Given the description of an element on the screen output the (x, y) to click on. 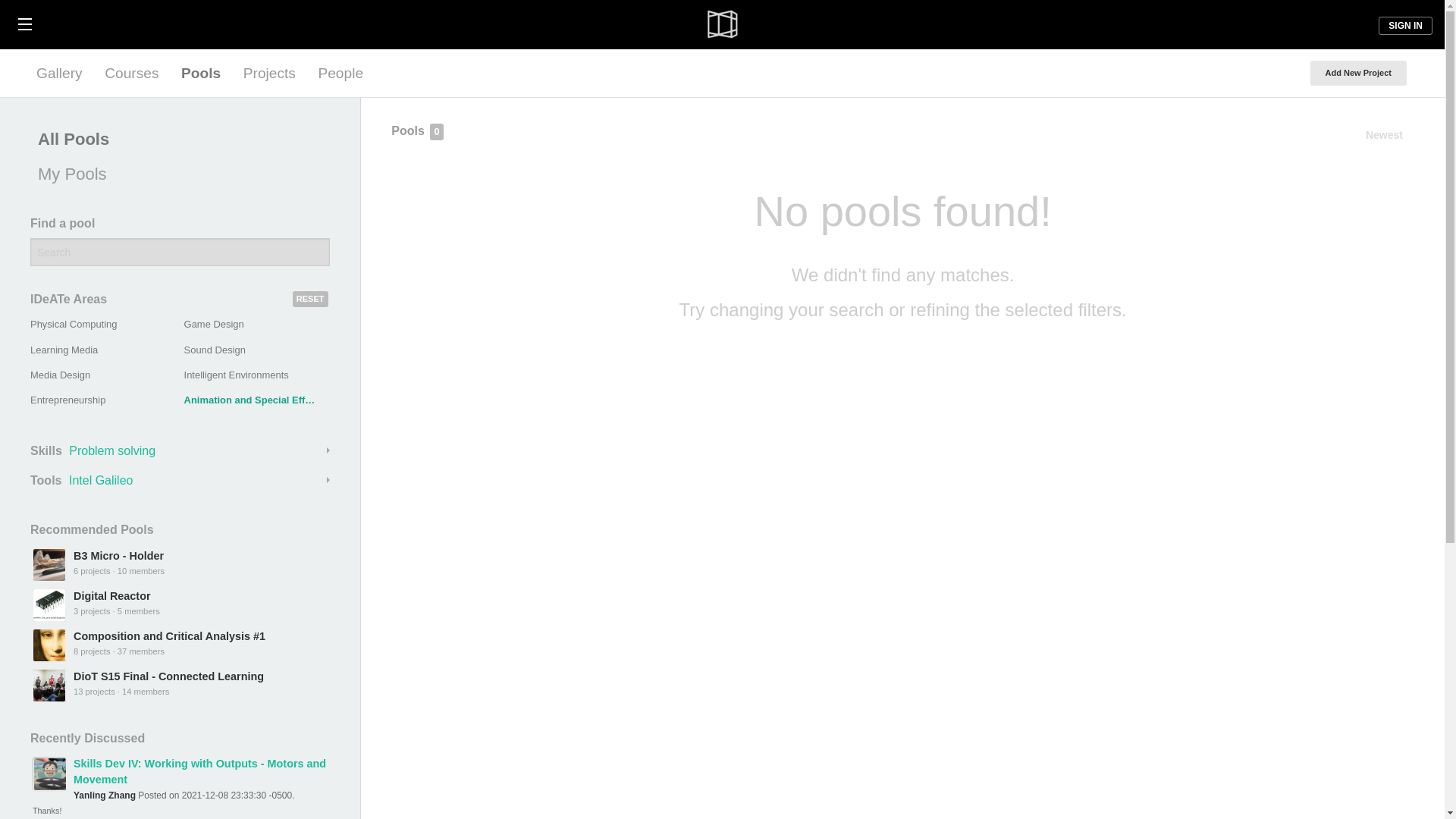
Entrepreneurship (67, 399)
Media Design (60, 374)
All Pools (175, 139)
Add New Project (1358, 72)
RESET (310, 299)
Pools (200, 73)
Game Design (214, 324)
My Pools (175, 174)
Animation and Special Effects (254, 399)
Skills Problem solving (180, 451)
